Given the description of an element on the screen output the (x, y) to click on. 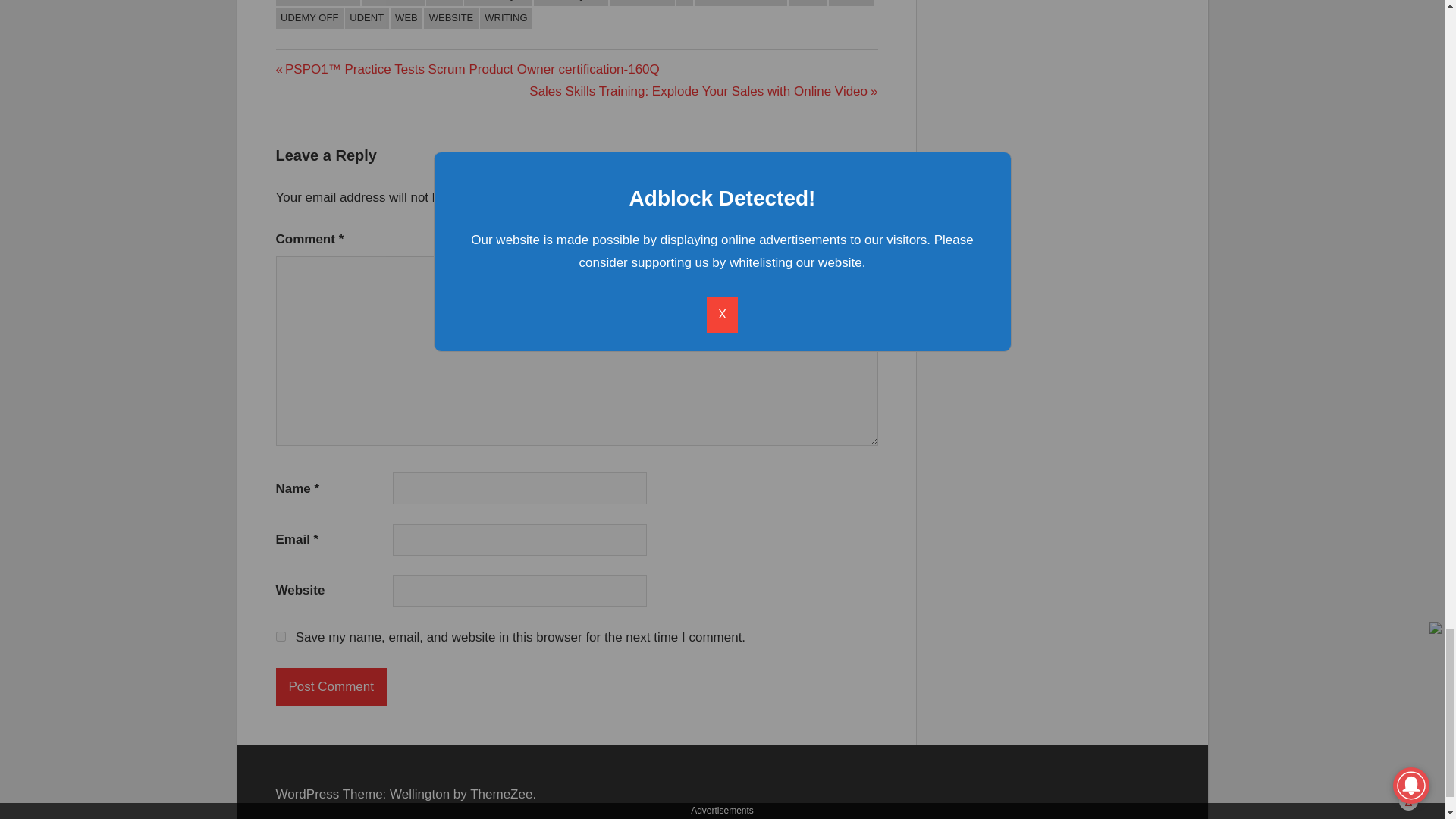
Post Comment (331, 686)
yes (280, 636)
